Given the description of an element on the screen output the (x, y) to click on. 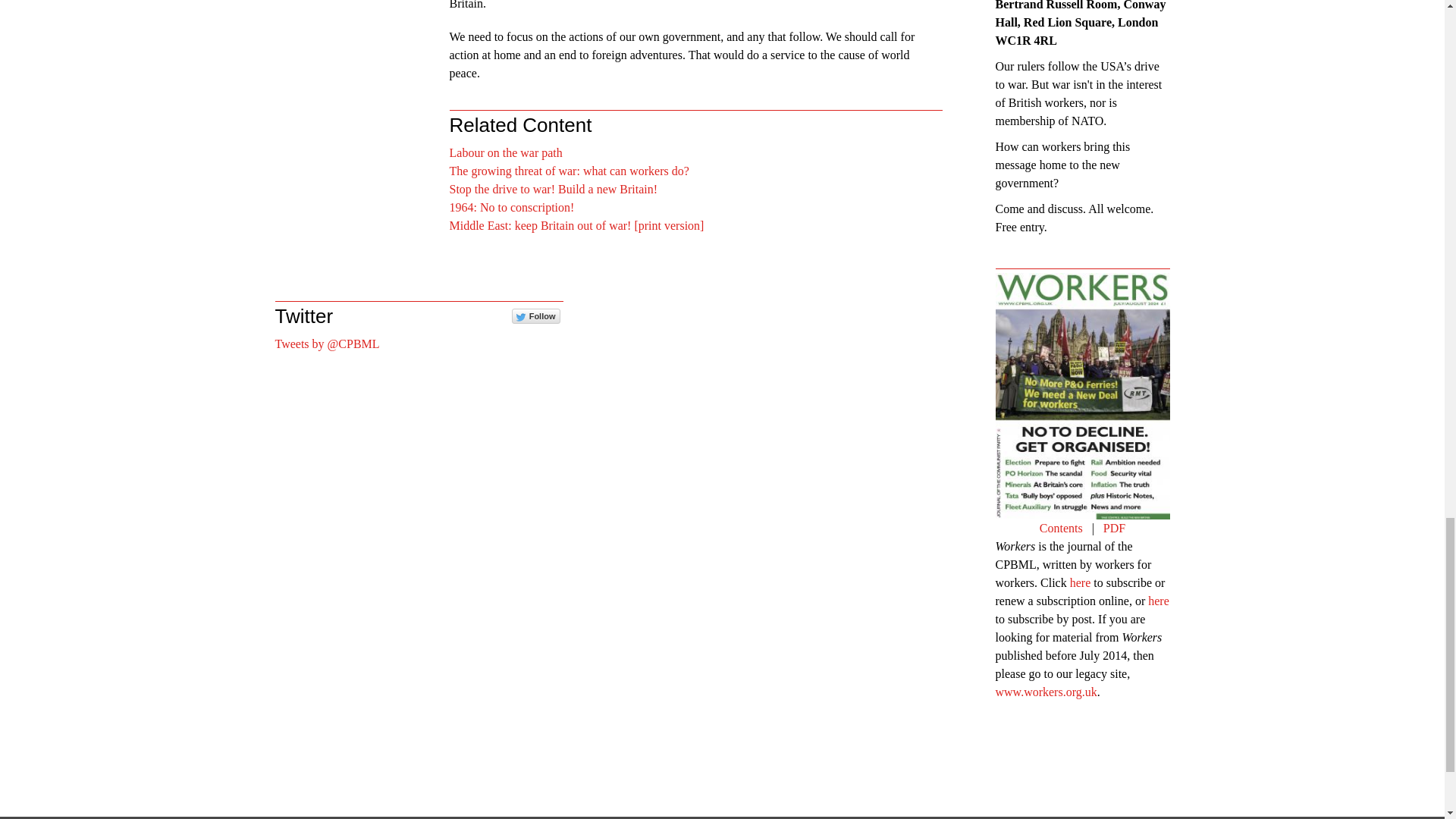
1964: No to conscription! (510, 206)
Labour on the war path (505, 152)
The growing threat of war: what can workers do? (568, 170)
Stop the drive to war! Build a new Britain! (553, 188)
